Given the description of an element on the screen output the (x, y) to click on. 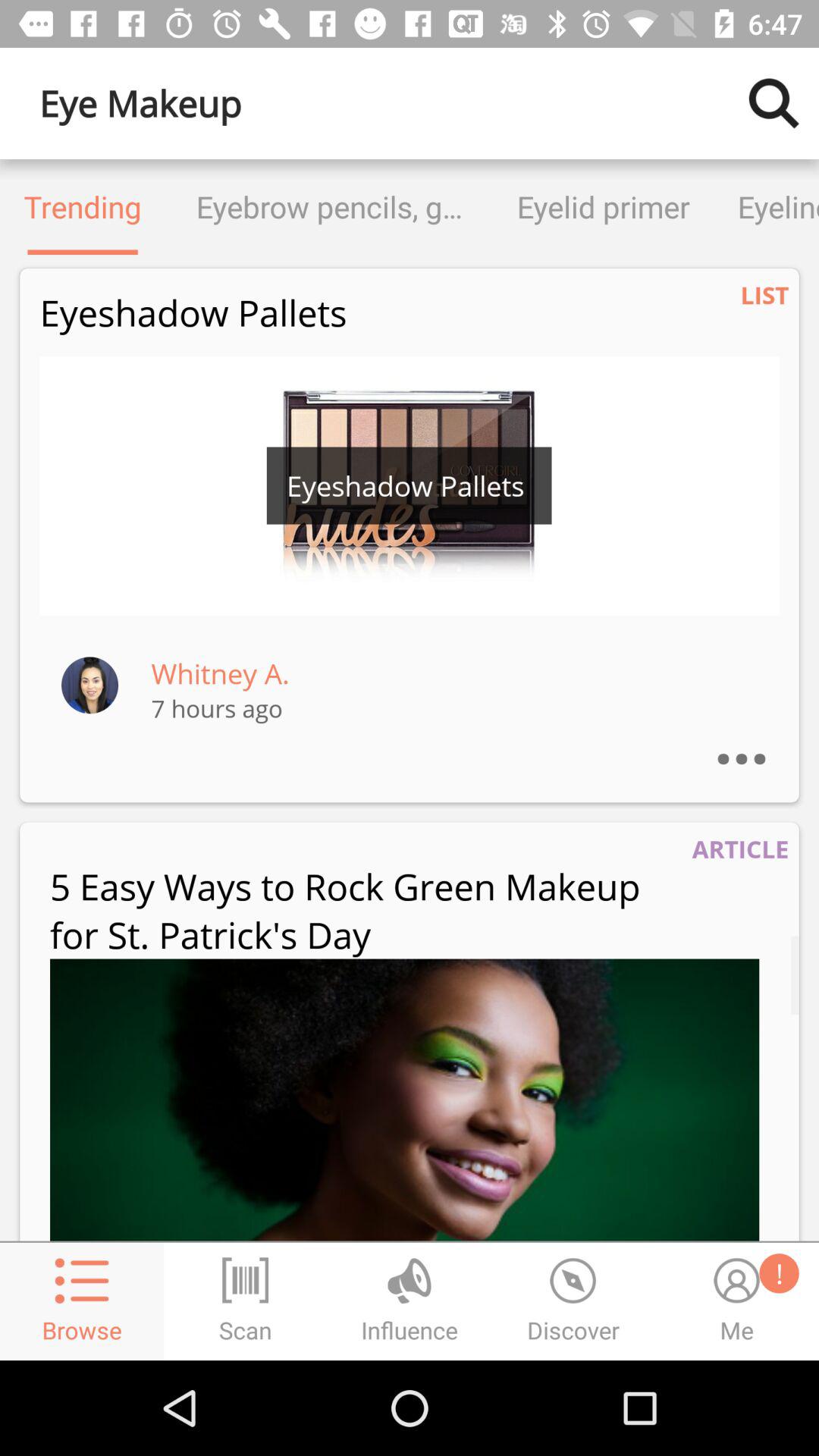
profile information of whitney a (89, 684)
